Given the description of an element on the screen output the (x, y) to click on. 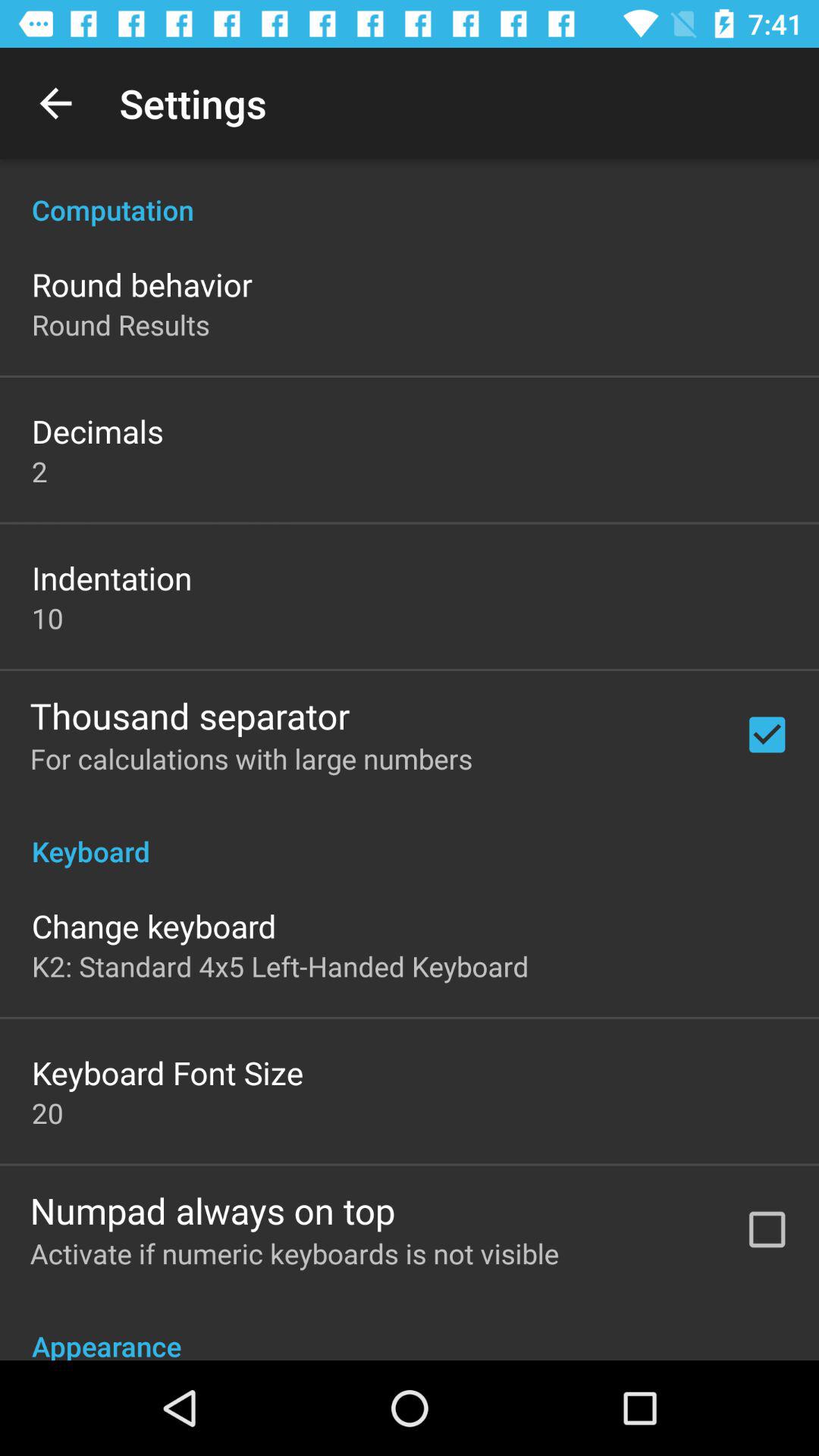
choose the icon to the left of the settings icon (55, 103)
